Given the description of an element on the screen output the (x, y) to click on. 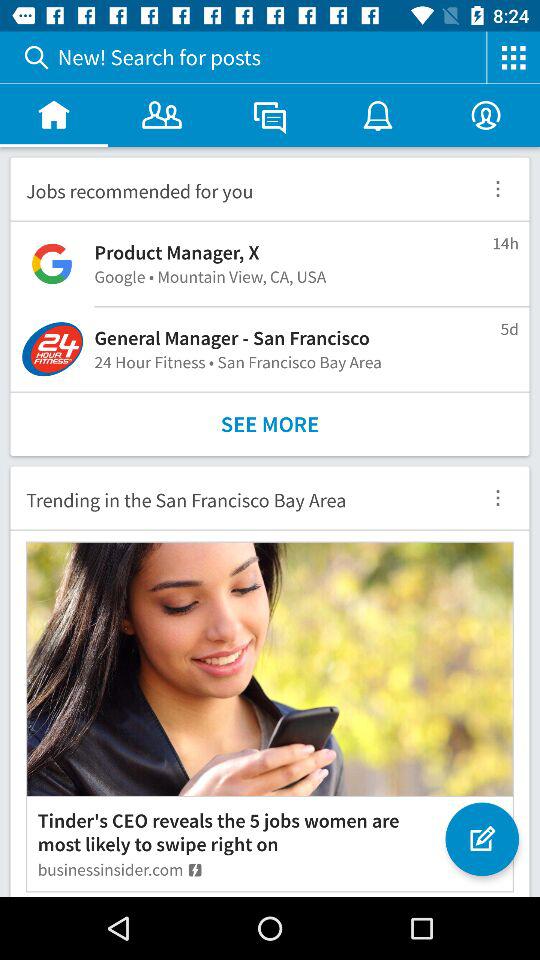
open icon above the trending in the (269, 424)
